Given the description of an element on the screen output the (x, y) to click on. 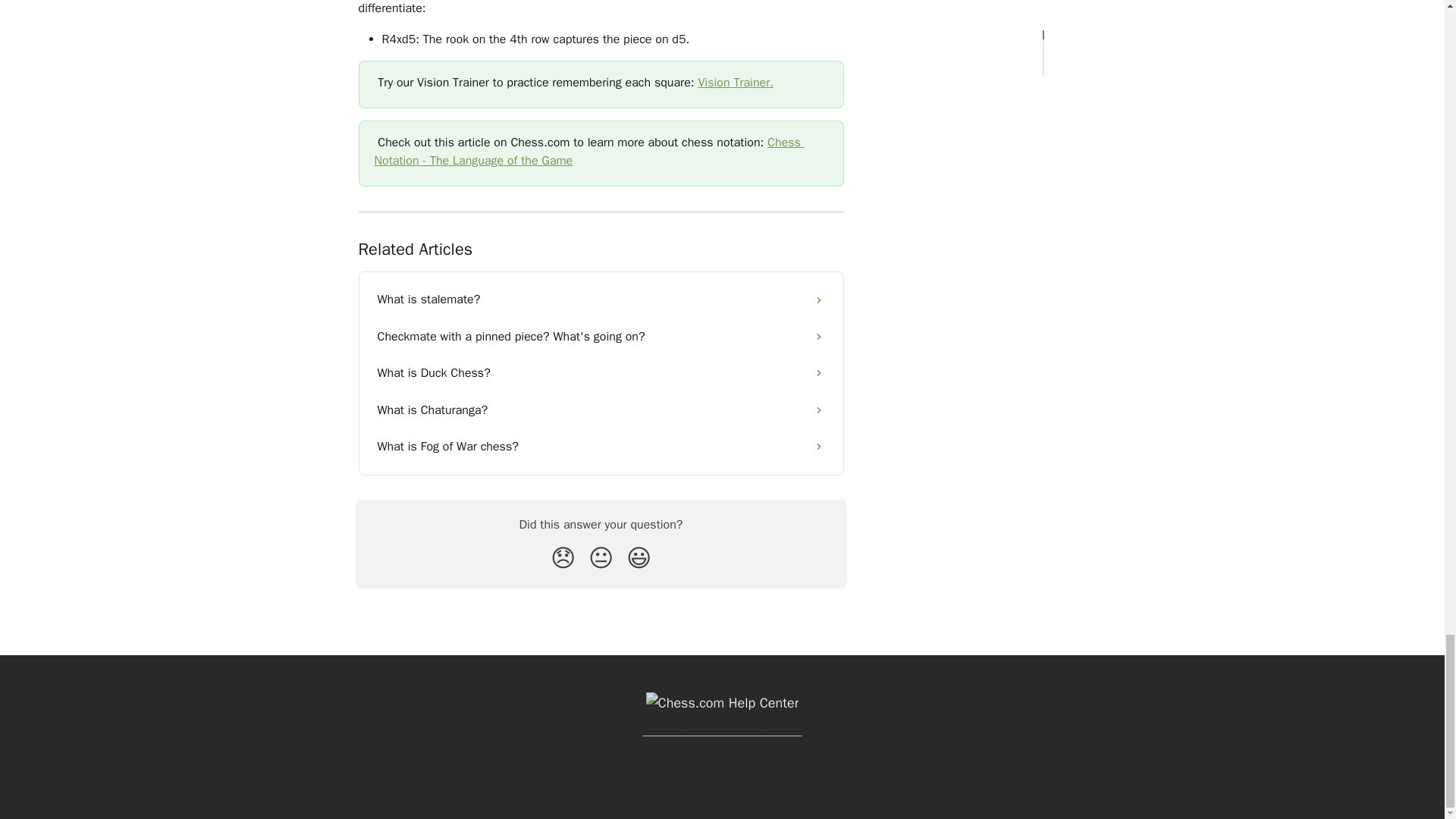
What is Chaturanga? (601, 410)
Vision Trainer. (735, 82)
What is Fog of War chess? (601, 446)
What is Duck Chess? (601, 372)
Chess Notation - The Language of the Game (589, 151)
Checkmate with a pinned piece? What's going on? (601, 336)
What is stalemate? (601, 299)
